Given the description of an element on the screen output the (x, y) to click on. 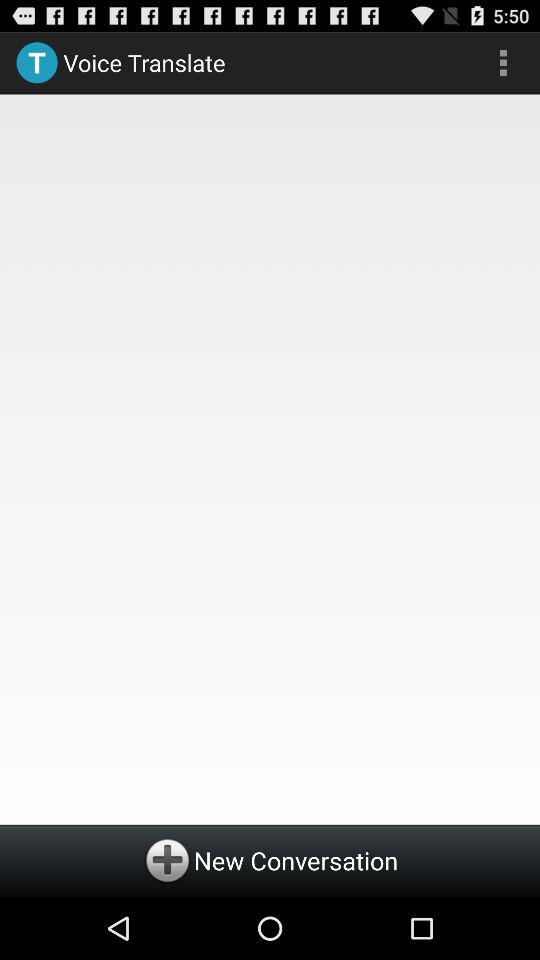
add a new conversation (270, 860)
